Given the description of an element on the screen output the (x, y) to click on. 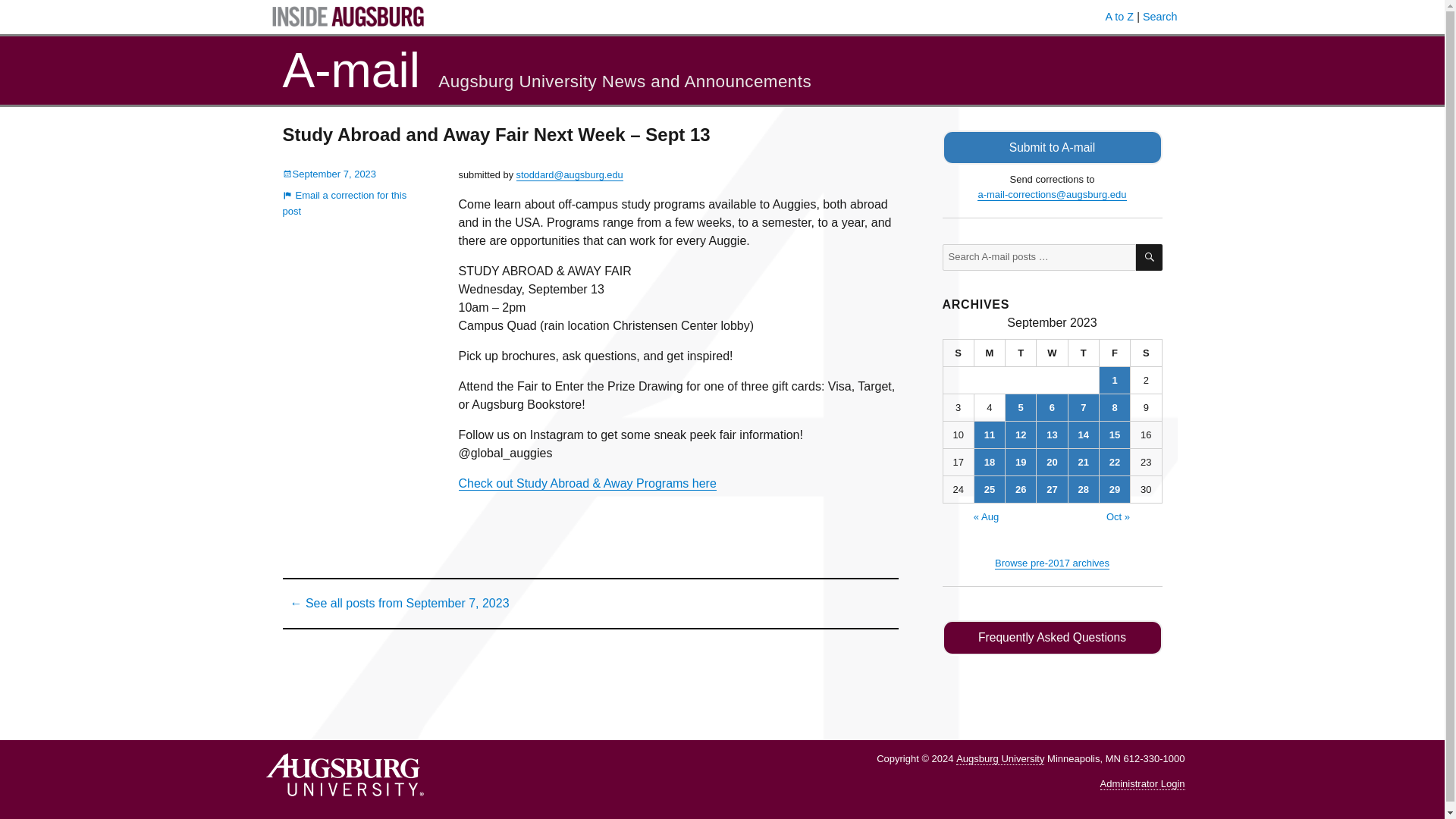
27 (1051, 488)
Browse pre-2017 archives (1051, 562)
22 (1114, 461)
15 (1114, 434)
Tuesday (1021, 352)
14 (1083, 434)
13 (1051, 434)
5 (1020, 406)
Friday (1115, 352)
28 (1083, 488)
